Given the description of an element on the screen output the (x, y) to click on. 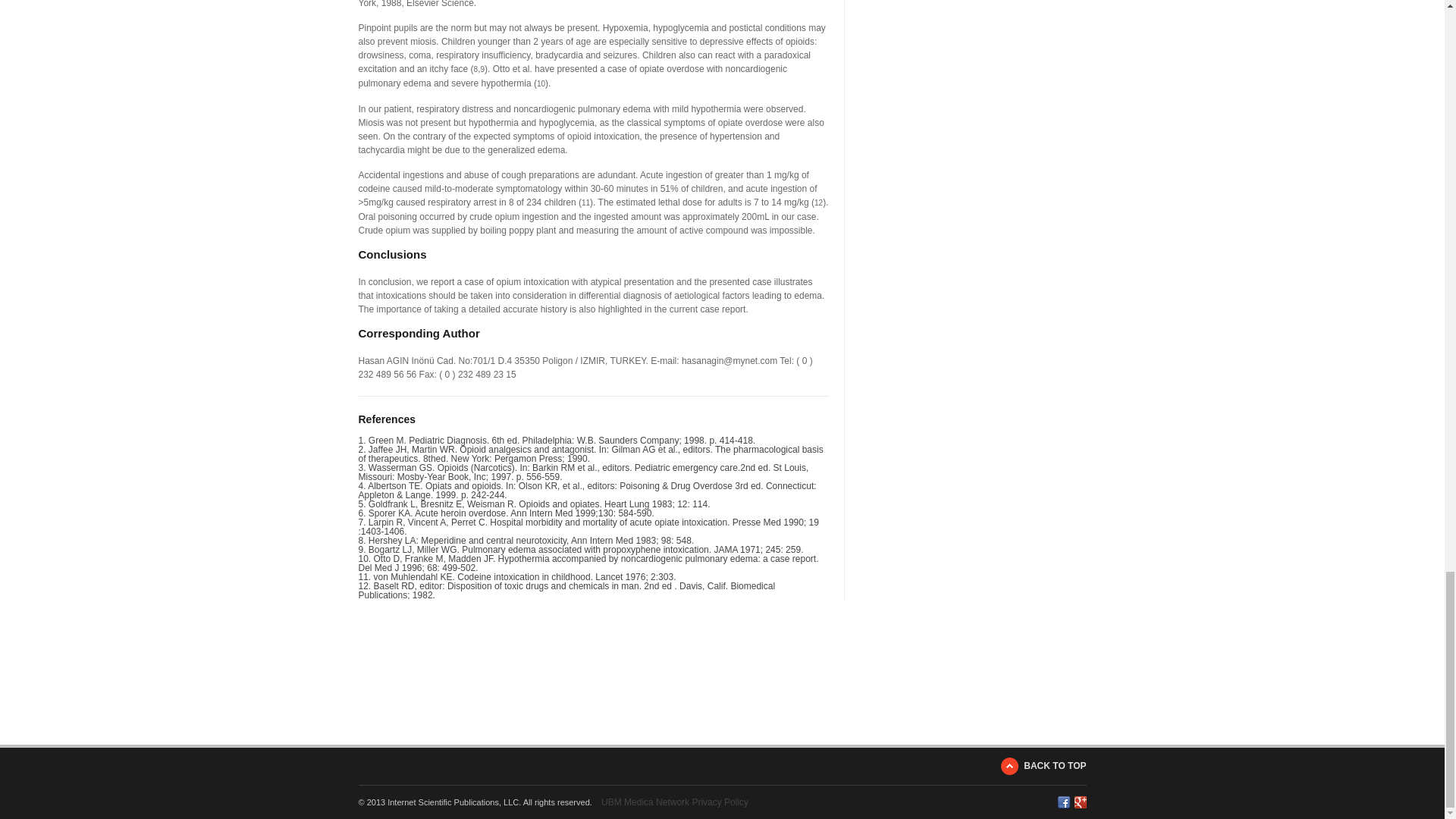
BACK TO TOP (1043, 765)
UBM Medica Network Privacy Policy (674, 801)
Facebook (1062, 802)
Google Plus (1080, 802)
